Given the description of an element on the screen output the (x, y) to click on. 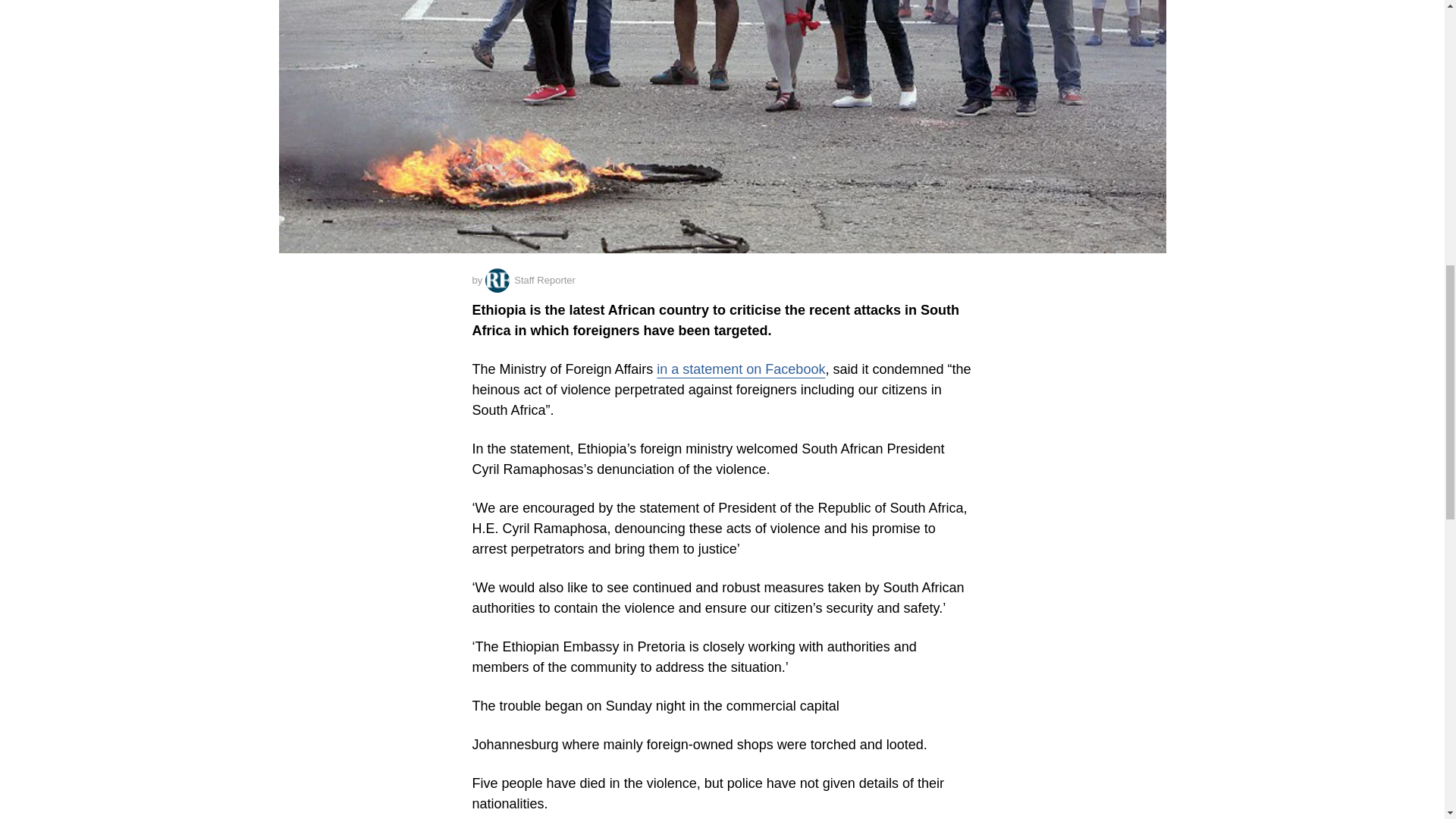
in a statement on Facebook (740, 368)
Staff Reporter (529, 280)
